Given the description of an element on the screen output the (x, y) to click on. 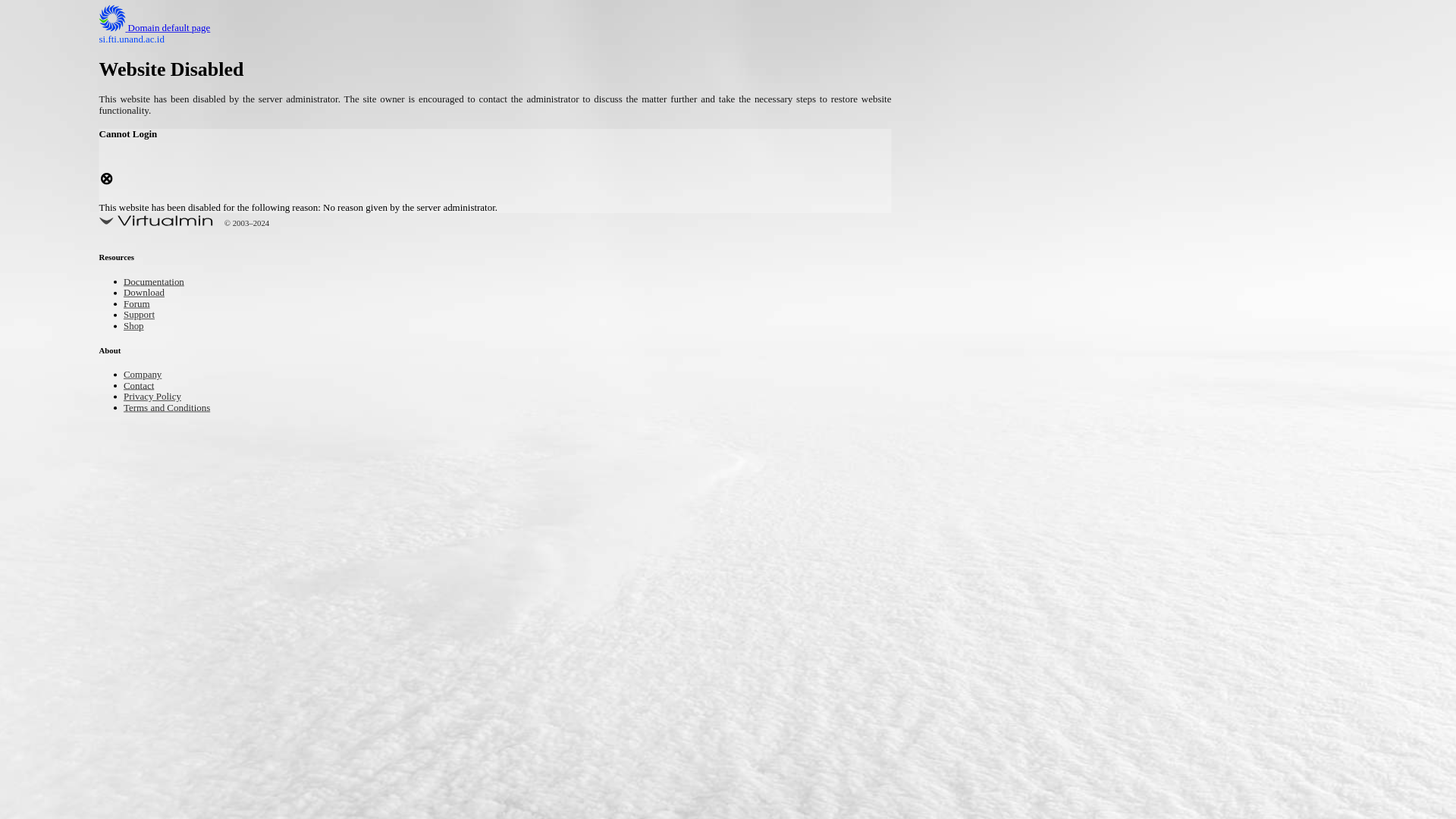
Documentation (160, 282)
Forum (139, 305)
Domain default page (167, 29)
Terms and Conditions (176, 408)
Company (146, 374)
Support (142, 315)
Privacy Policy (159, 397)
Shop (135, 327)
Contact (142, 386)
Download (148, 293)
